Given the description of an element on the screen output the (x, y) to click on. 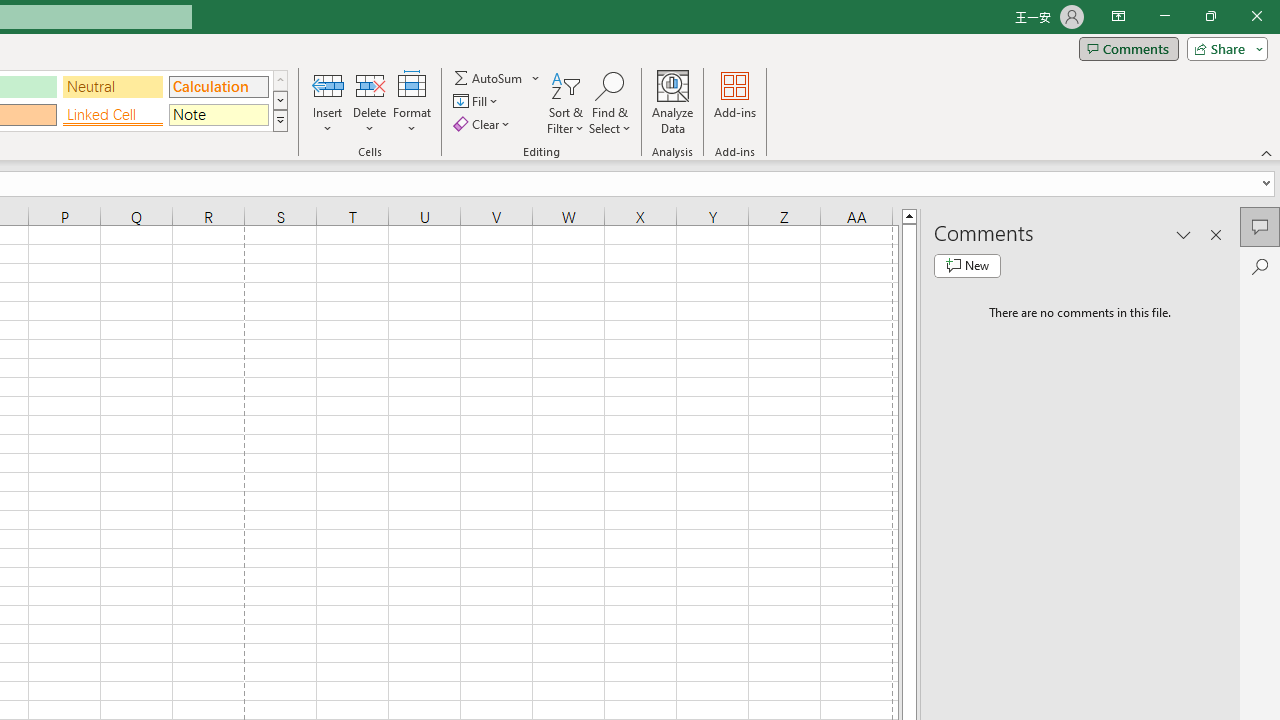
Delete (369, 102)
